Given the description of an element on the screen output the (x, y) to click on. 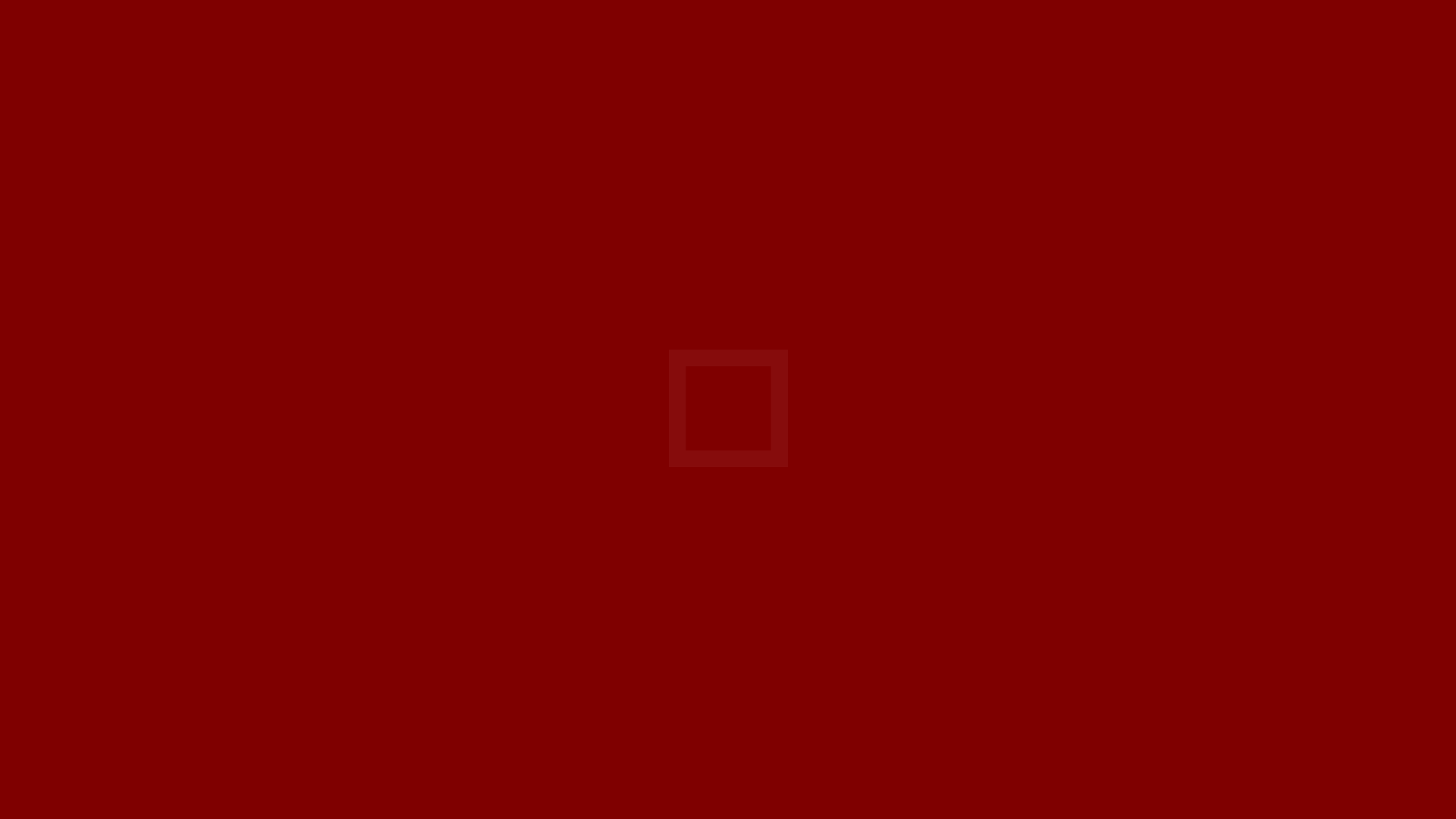
Rechercher Element type: text (226, 87)
Bonjour tout le monde ! Element type: text (58, 114)
Art Au Centre Element type: text (23, 26)
